Given the description of an element on the screen output the (x, y) to click on. 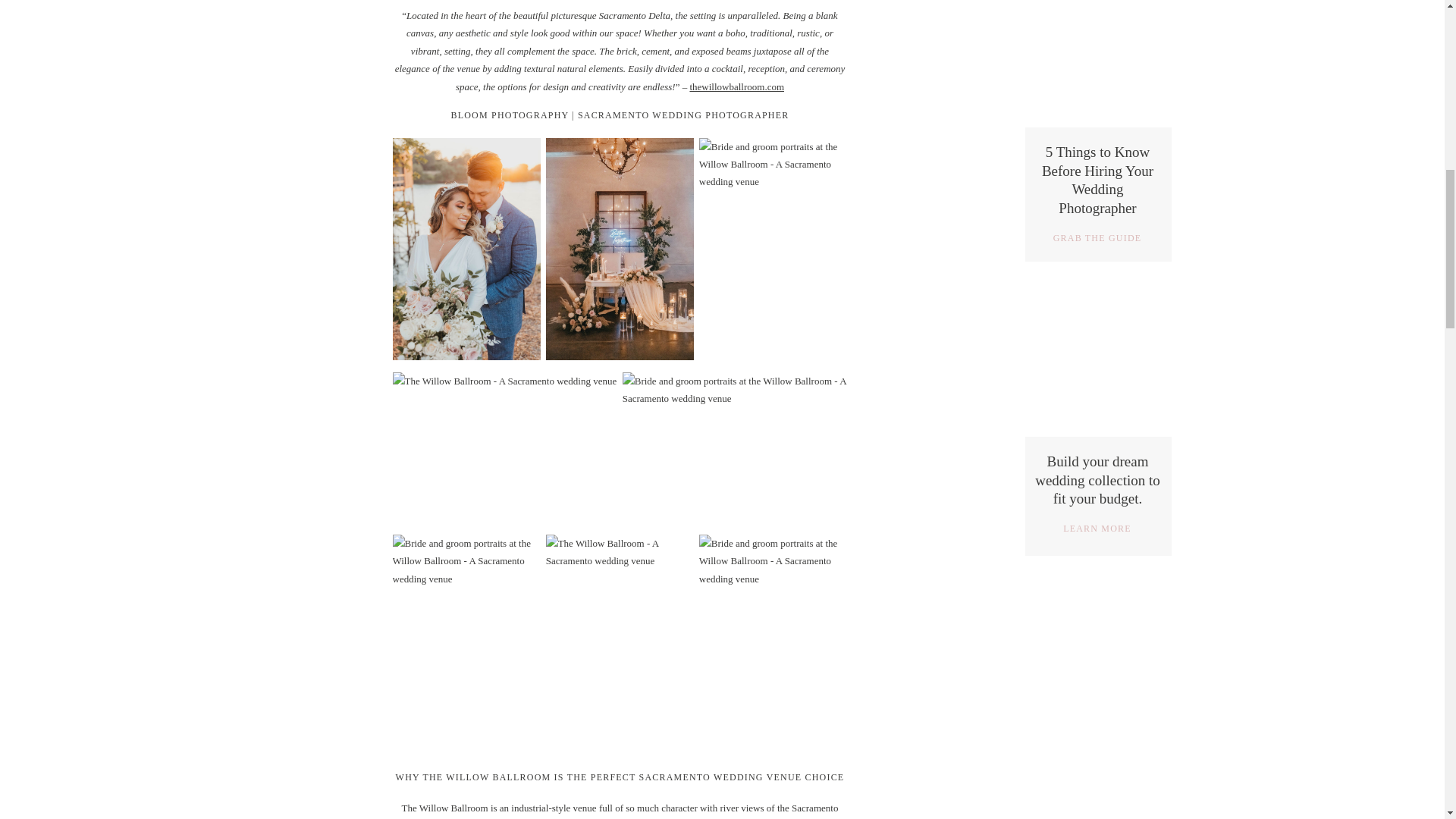
thewillowballroom.com (736, 86)
A Sacramento Wedding Venue - The Willow Ballroom (467, 645)
A Sacramento Wedding Venue - The Willow Ballroom (620, 249)
A Sacramento Wedding Venue - The Willow Ballroom (467, 249)
A Sacramento Wedding Venue - The Willow Ballroom (505, 447)
GRAB THE GUIDE (1097, 240)
A Sacramento Wedding Venue - The Willow Ballroom (772, 645)
A Sacramento Wedding Venue - The Willow Ballroom (772, 249)
LEARN MORE (1096, 530)
A Sacramento Wedding Venue - The Willow Ballroom (620, 645)
A Sacramento Wedding Venue - The Willow Ballroom (735, 447)
